Given the description of an element on the screen output the (x, y) to click on. 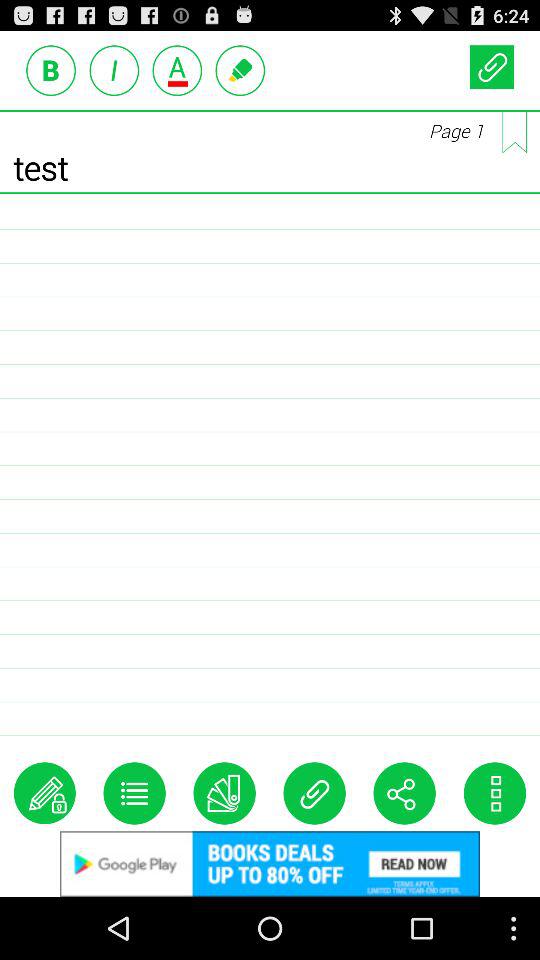
text option (240, 70)
